Given the description of an element on the screen output the (x, y) to click on. 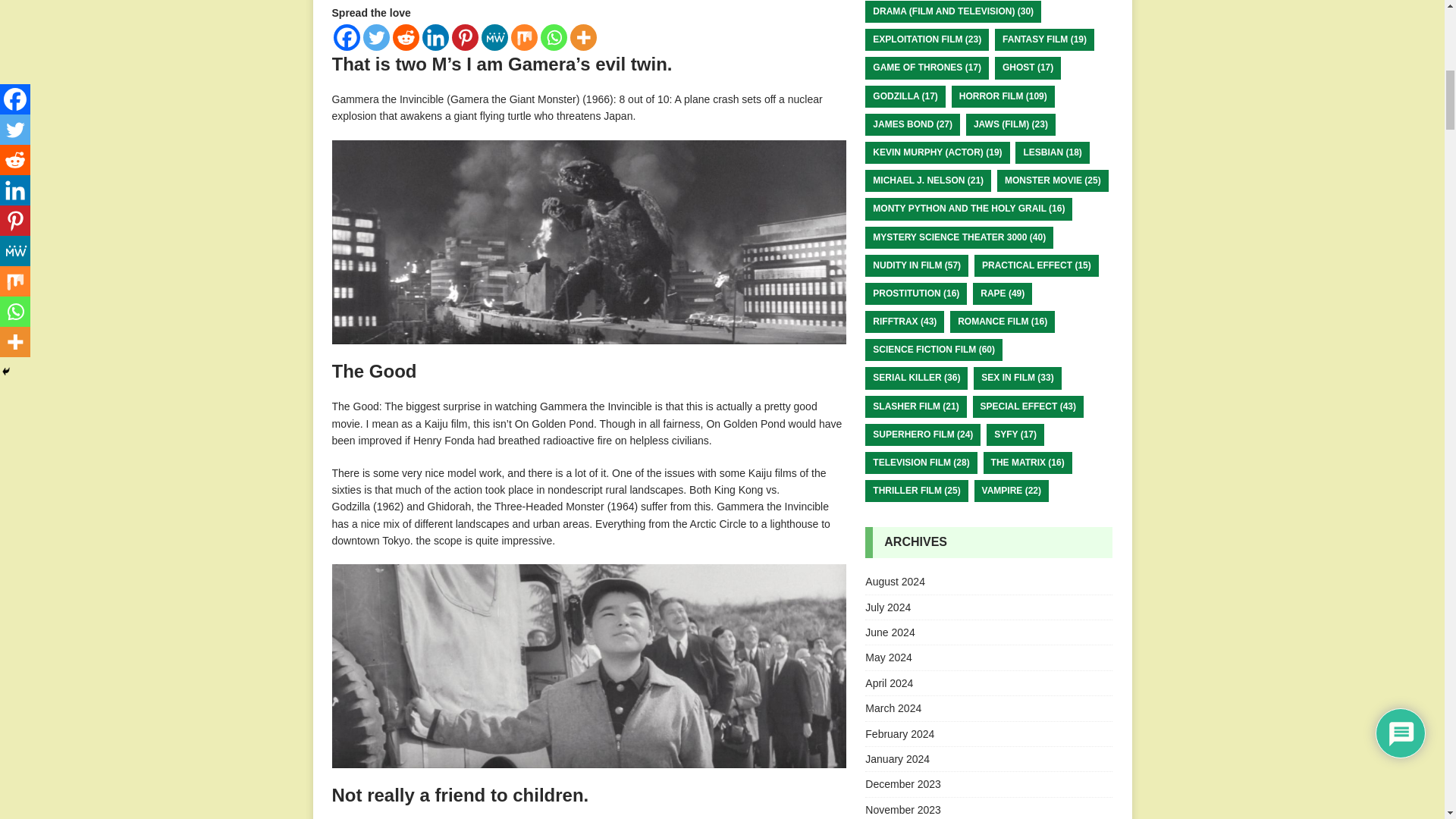
Pinterest (465, 37)
Facebook (346, 37)
More (583, 37)
Whatsapp (553, 37)
Reddit (406, 37)
Mix (524, 37)
Linkedin (435, 37)
MeWe (493, 37)
Twitter (375, 37)
